Given the description of an element on the screen output the (x, y) to click on. 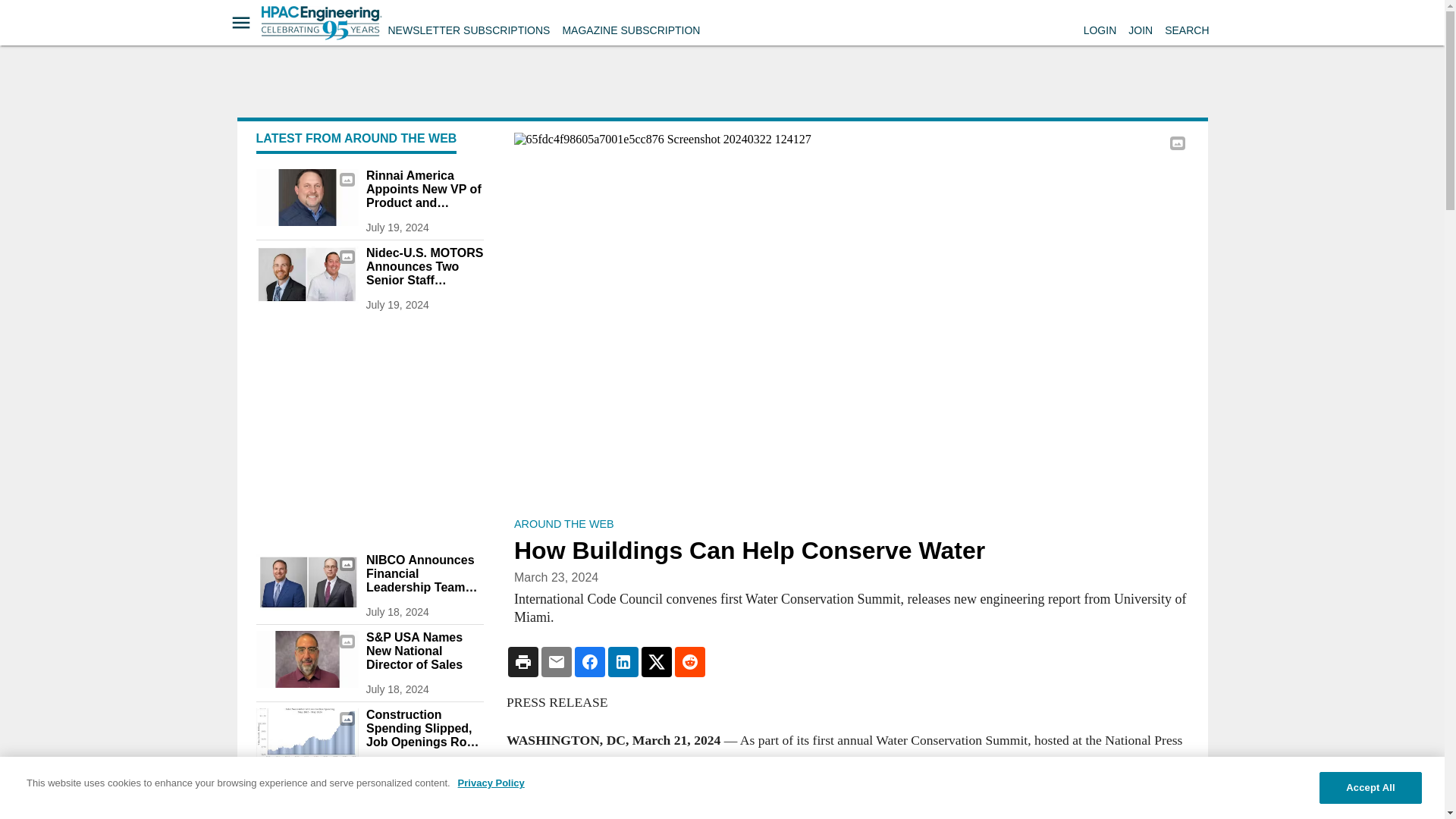
JOIN (1140, 30)
Cory Kniepp and Patrick Hogg (307, 274)
NEWSLETTER SUBSCRIPTIONS (469, 30)
MAGAZINE SUBSCRIPTION (631, 30)
LOGIN (1099, 30)
Paul Nick  (307, 197)
NIBCO Announces Financial Leadership Team Promotions (424, 573)
SEARCH (1186, 30)
Nidec-U.S. MOTORS Announces Two Senior Staff Promotions (424, 266)
Rinnai America Appoints New VP of Product and Marketing (424, 188)
